Given the description of an element on the screen output the (x, y) to click on. 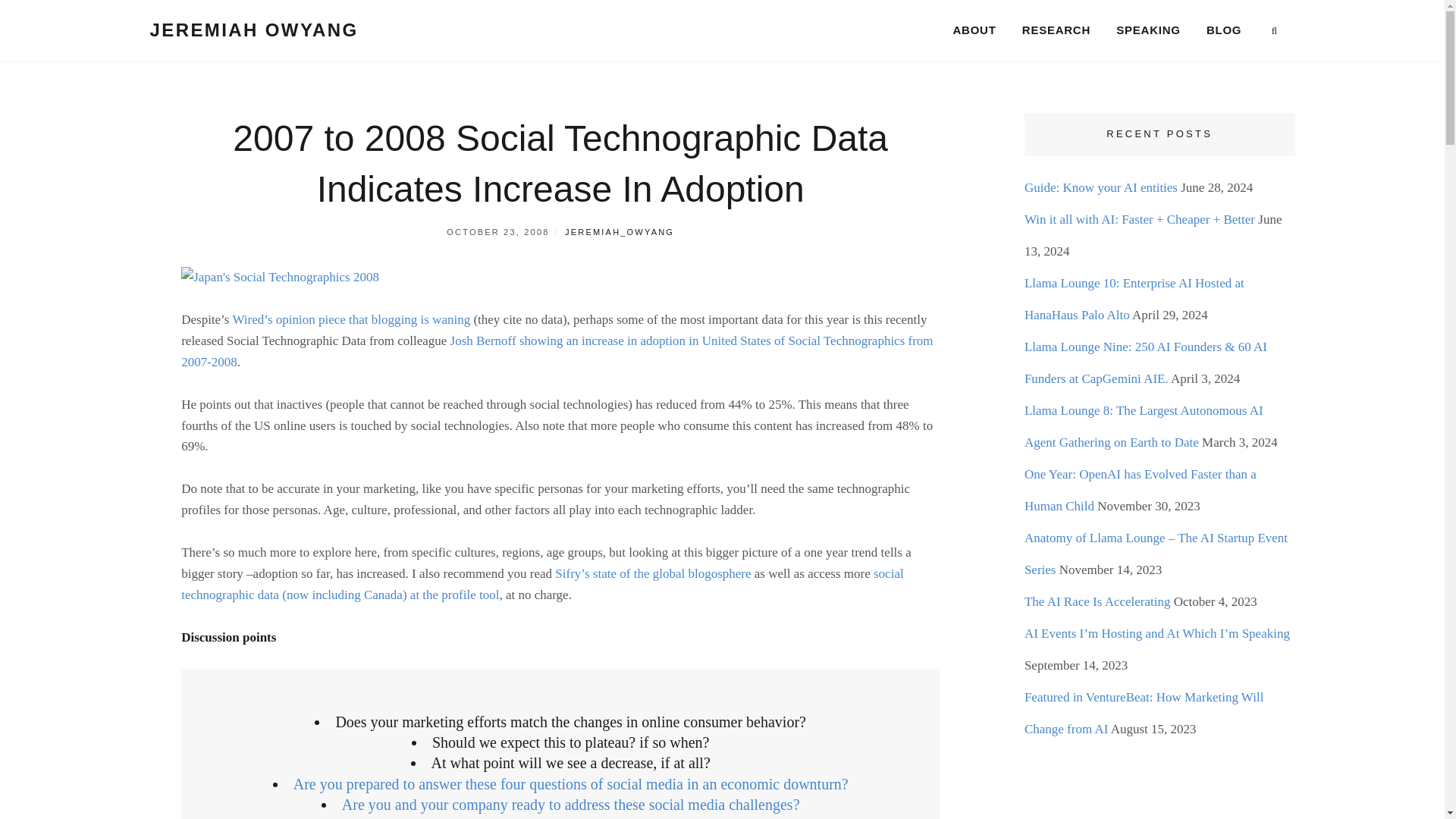
BLOG (1223, 29)
ABOUT (974, 29)
JEREMIAH OWYANG (253, 29)
SEARCH (1274, 31)
RESEARCH (1056, 29)
SPEAKING (1148, 29)
